Given the description of an element on the screen output the (x, y) to click on. 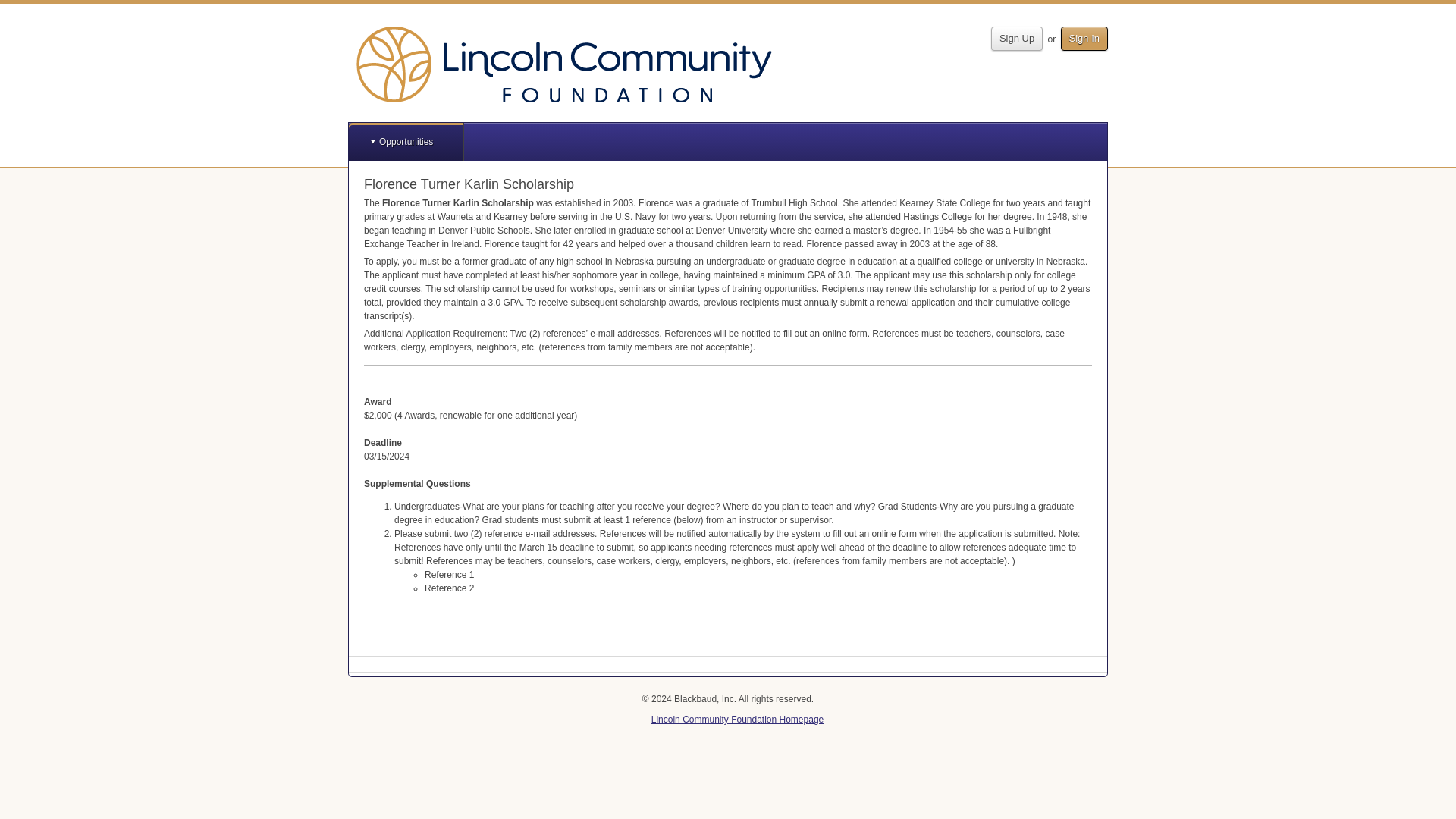
Lincoln Community Foundation (563, 64)
Sign In (1084, 38)
Sign Up (1016, 38)
Lincoln Community Foundation Homepage (737, 719)
Opportunities (406, 141)
